Given the description of an element on the screen output the (x, y) to click on. 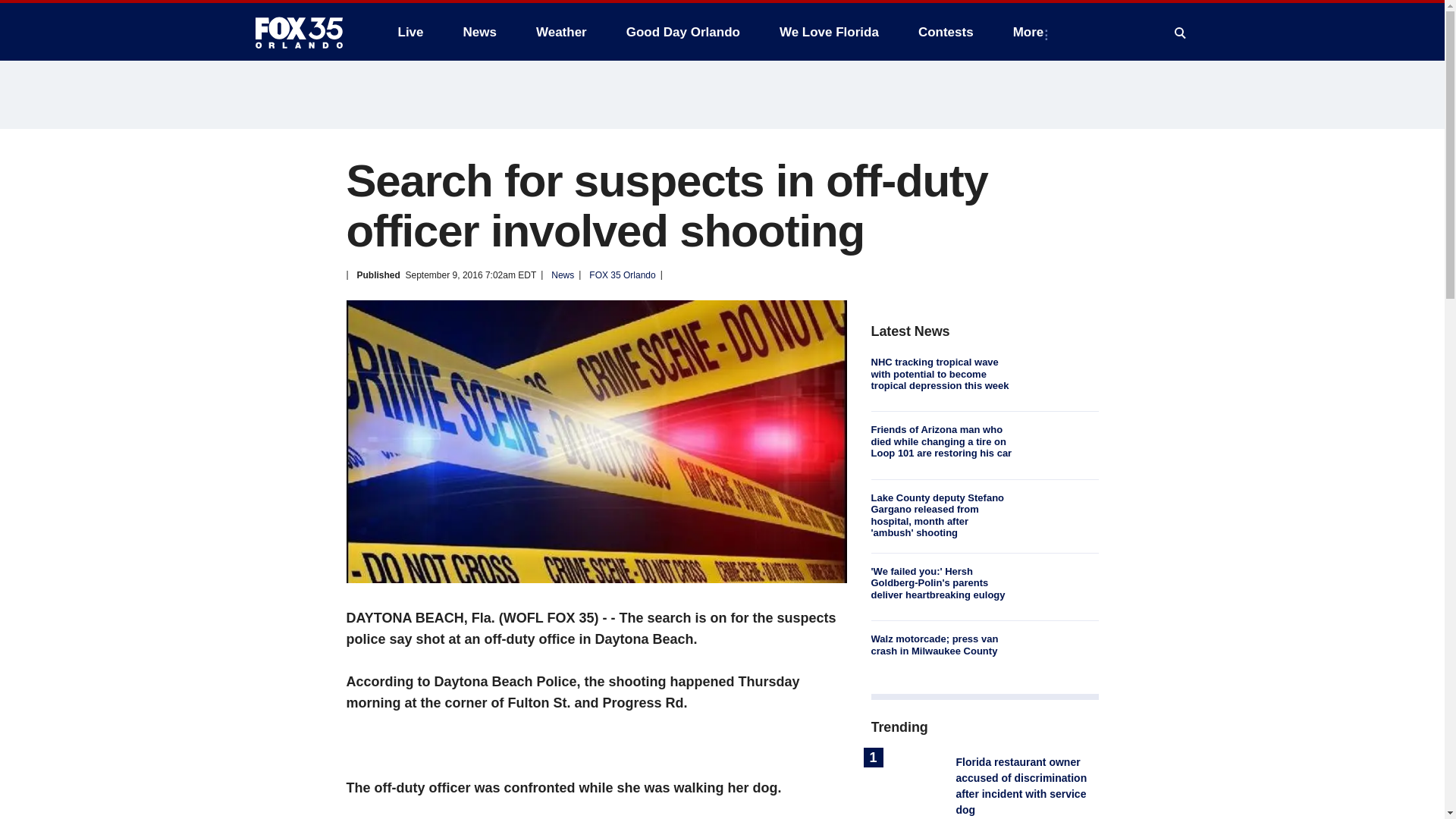
Live (410, 32)
More (1031, 32)
We Love Florida (829, 32)
Contests (945, 32)
Good Day Orlando (683, 32)
News (479, 32)
Weather (561, 32)
